Given the description of an element on the screen output the (x, y) to click on. 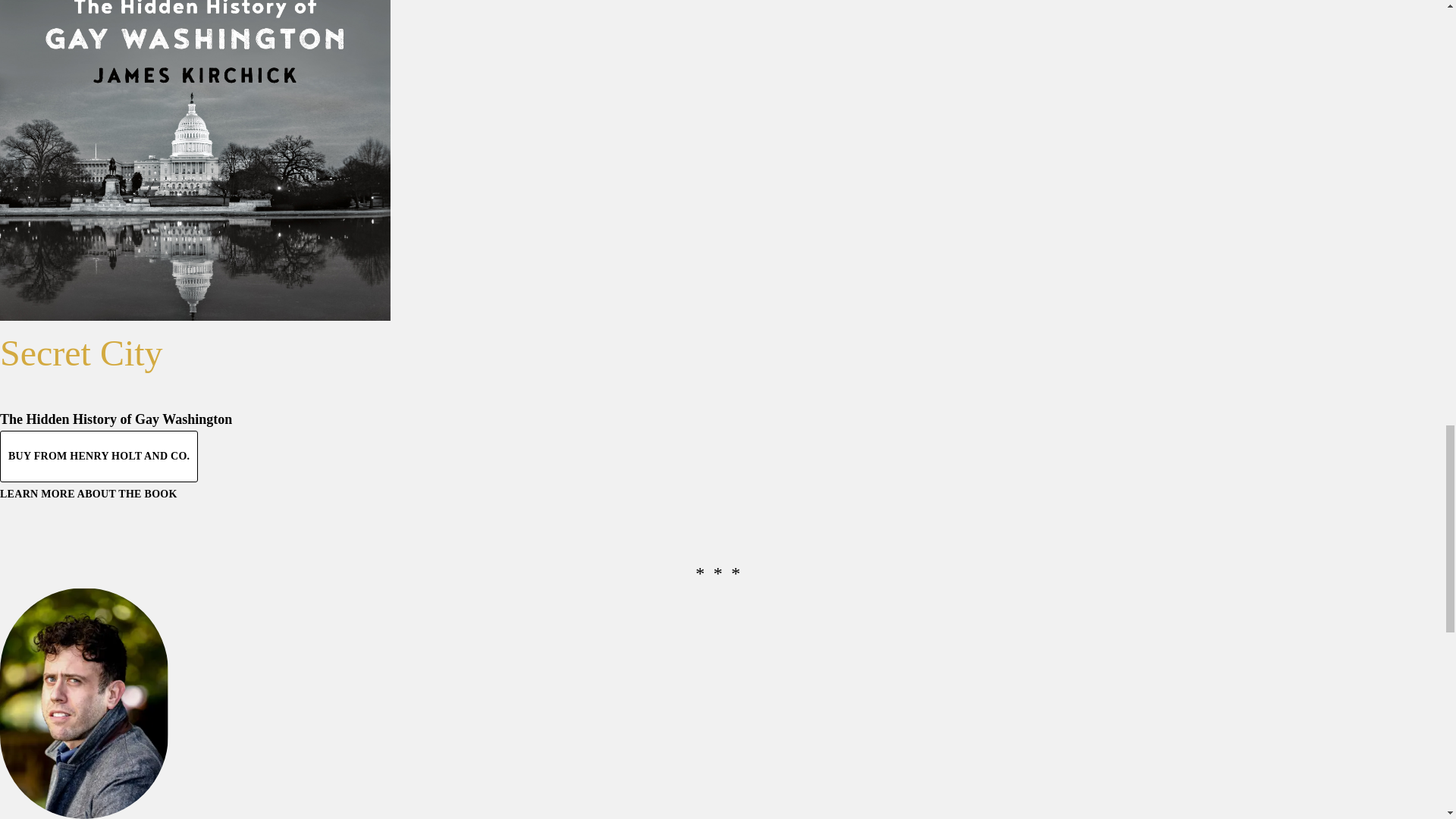
LEARN MORE ABOUT THE BOOK (88, 493)
BUY FROM HENRY HOLT AND CO. (99, 456)
Secret City (81, 352)
Secret City (195, 160)
